Given the description of an element on the screen output the (x, y) to click on. 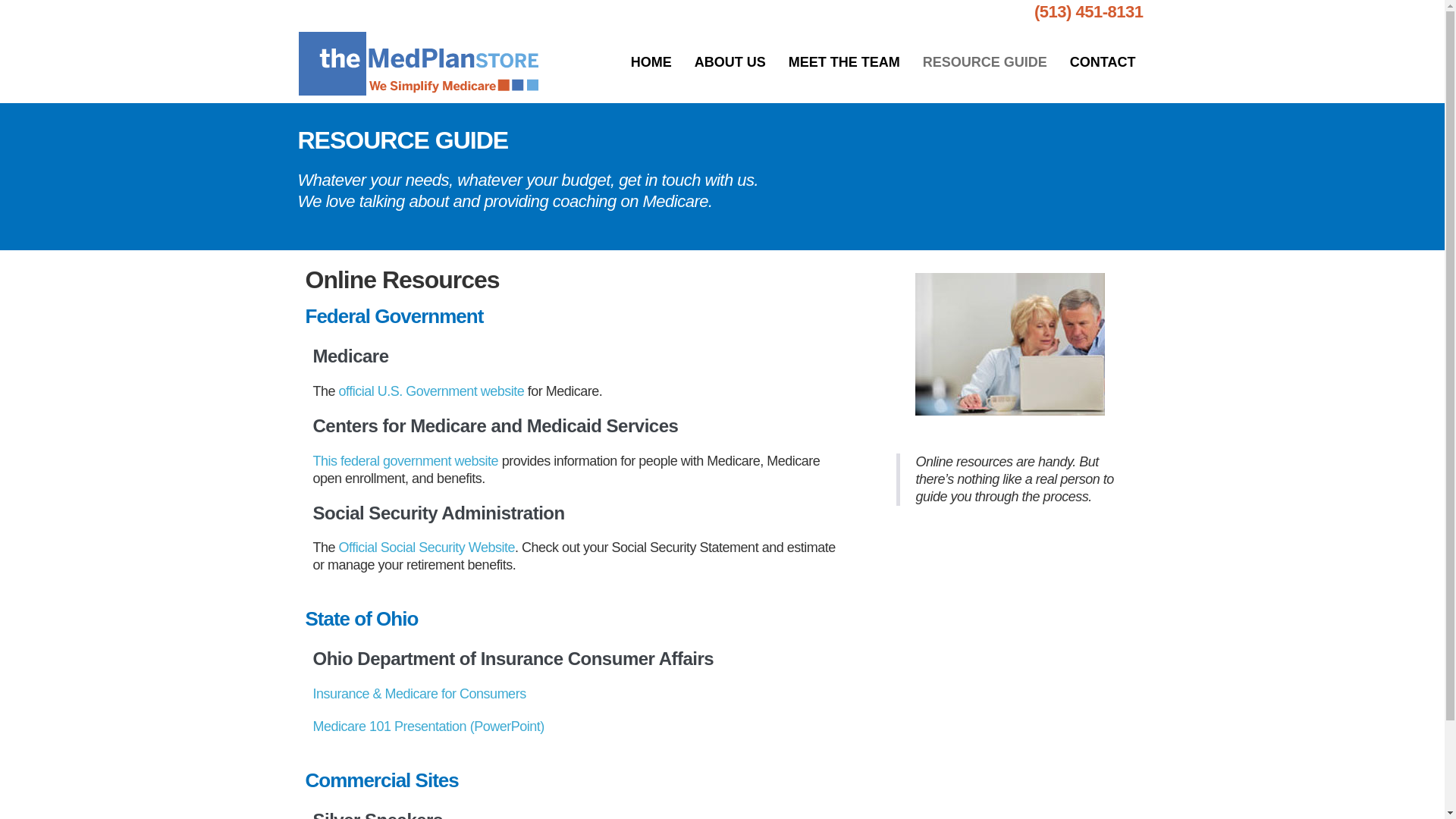
HOME (651, 61)
 ODoI site  (428, 726)
RESOURCE GUIDE (984, 61)
ABOUT US (729, 61)
This federal government website (405, 460)
 ODoI site  (419, 693)
MEET THE TEAM (844, 61)
CONTACT (1102, 61)
 official Medicare site  (431, 391)
 CMS site (405, 460)
